Given the description of an element on the screen output the (x, y) to click on. 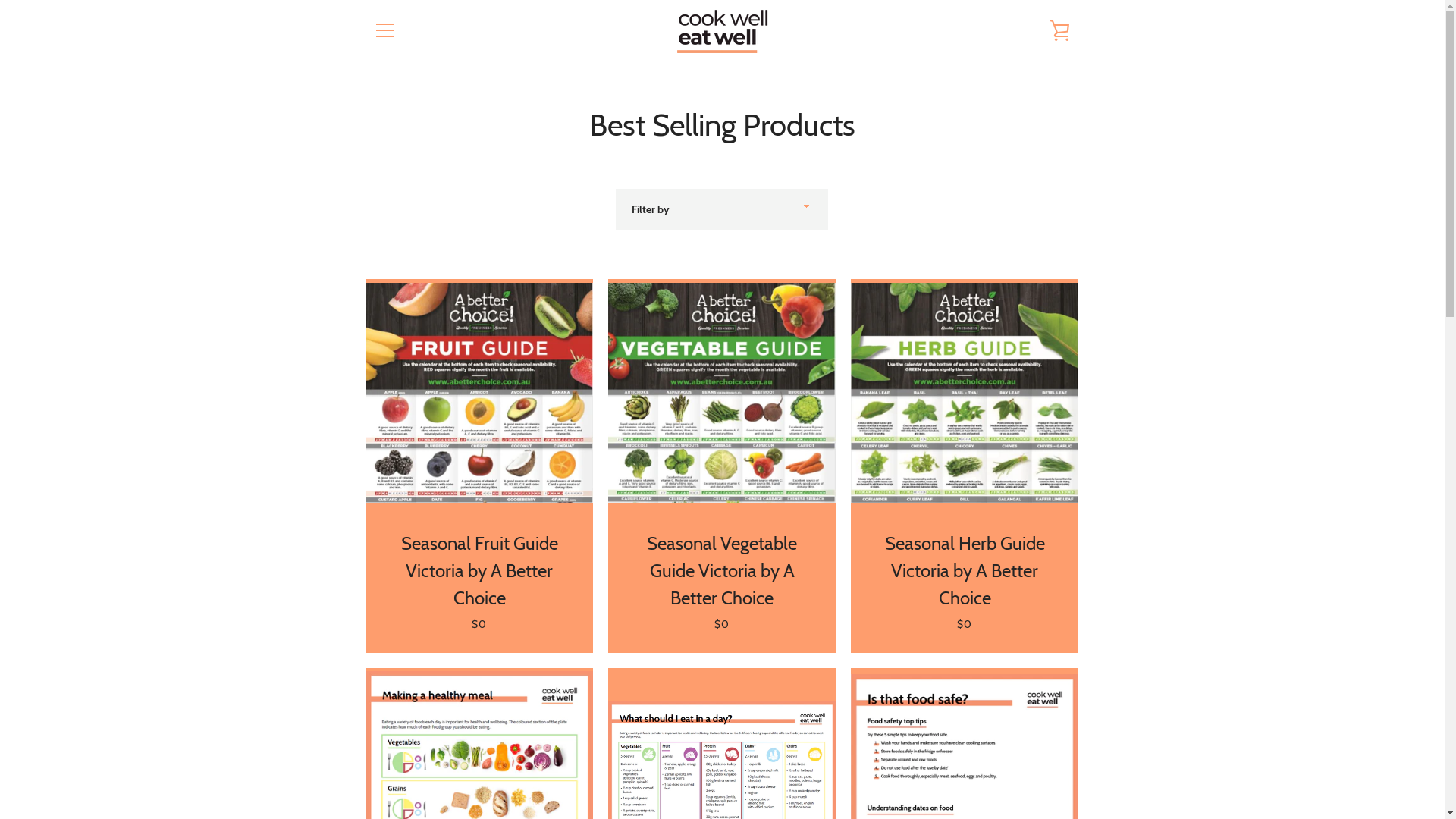
Seasonal Fruit Guide Victoria by A Better Choice
$0 Element type: text (479, 465)
Seasonal Vegetable Guide Victoria by A Better Choice
$0 Element type: text (721, 465)
PRIVACY STATEMENT Element type: text (721, 700)
Seasonal Herb Guide Victoria by A Better Choice
$0 Element type: text (964, 465)
Skip to content Element type: text (0, 0)
CONTACT US Element type: text (750, 665)
SEARCH Element type: text (682, 665)
VIEW CART Element type: text (1059, 30)
Powered by Shopify Element type: text (1006, 768)
MENU Element type: text (384, 30)
Cook Well, Eat Well Element type: text (972, 759)
